Given the description of an element on the screen output the (x, y) to click on. 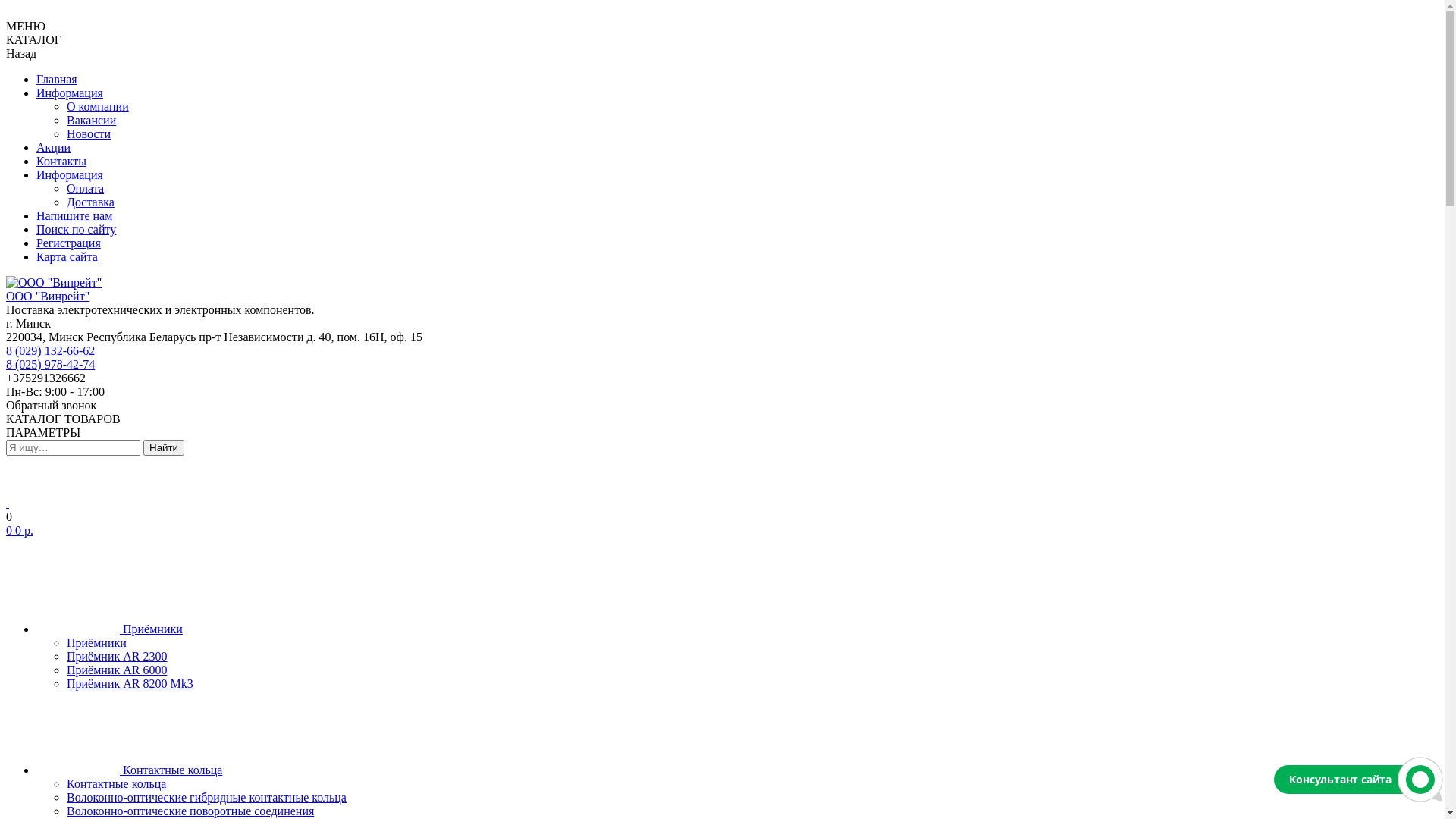
  Element type: text (7, 12)
  Element type: text (7, 502)
8 (025) 978-42-74 Element type: text (50, 363)
8 (029) 132-66-62 Element type: text (50, 350)
